Given the description of an element on the screen output the (x, y) to click on. 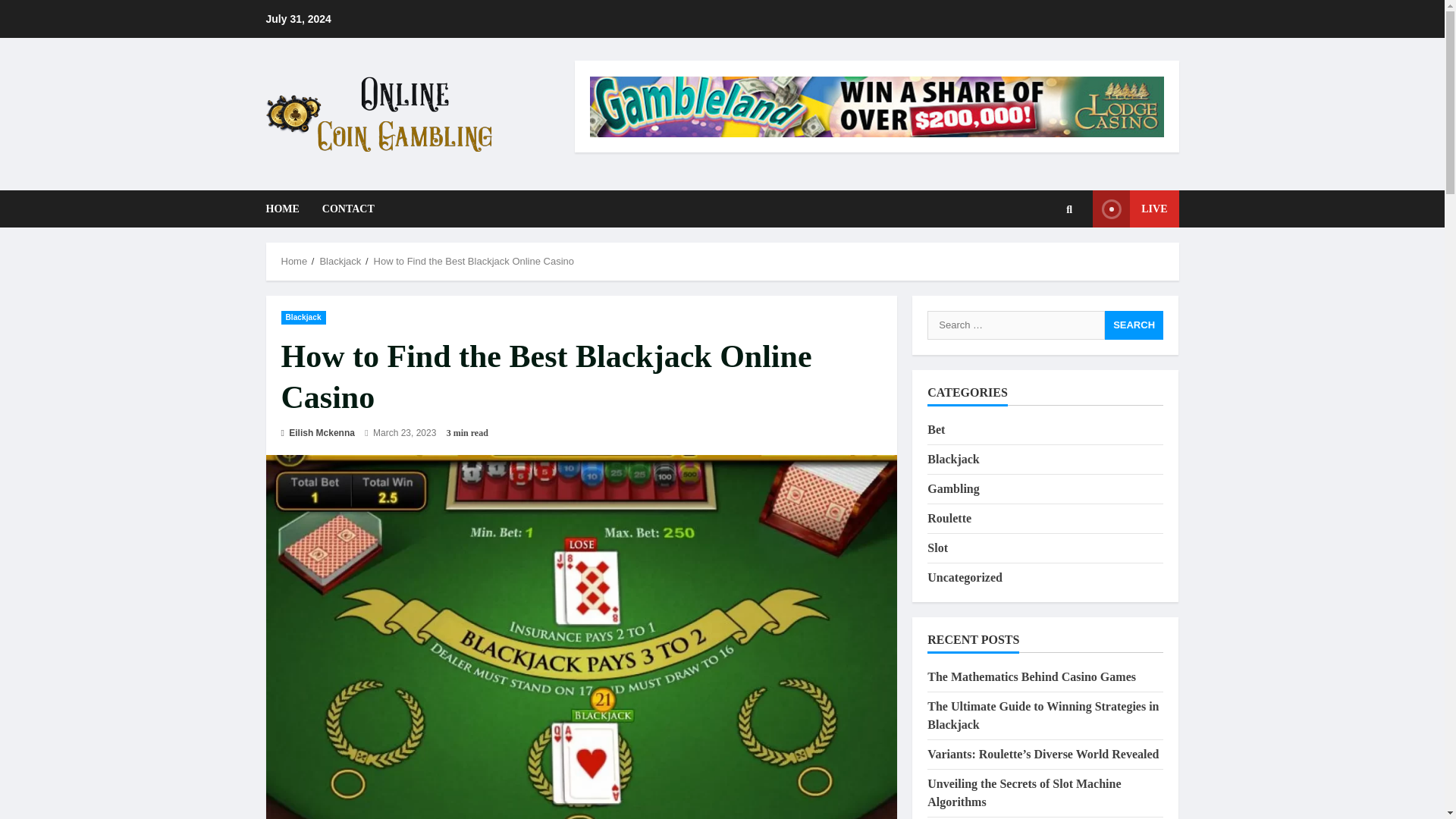
Search (1134, 325)
Bet (935, 429)
Gambling (952, 488)
CONTACT (342, 208)
Home (294, 260)
Blackjack (952, 459)
Eilish Mckenna (317, 432)
Search (1134, 325)
How to Find the Best Blackjack Online Casino (473, 260)
HOME (287, 208)
LIVE (1135, 208)
Blackjack (339, 260)
Search (1045, 260)
Search (1134, 325)
Blackjack (302, 317)
